Given the description of an element on the screen output the (x, y) to click on. 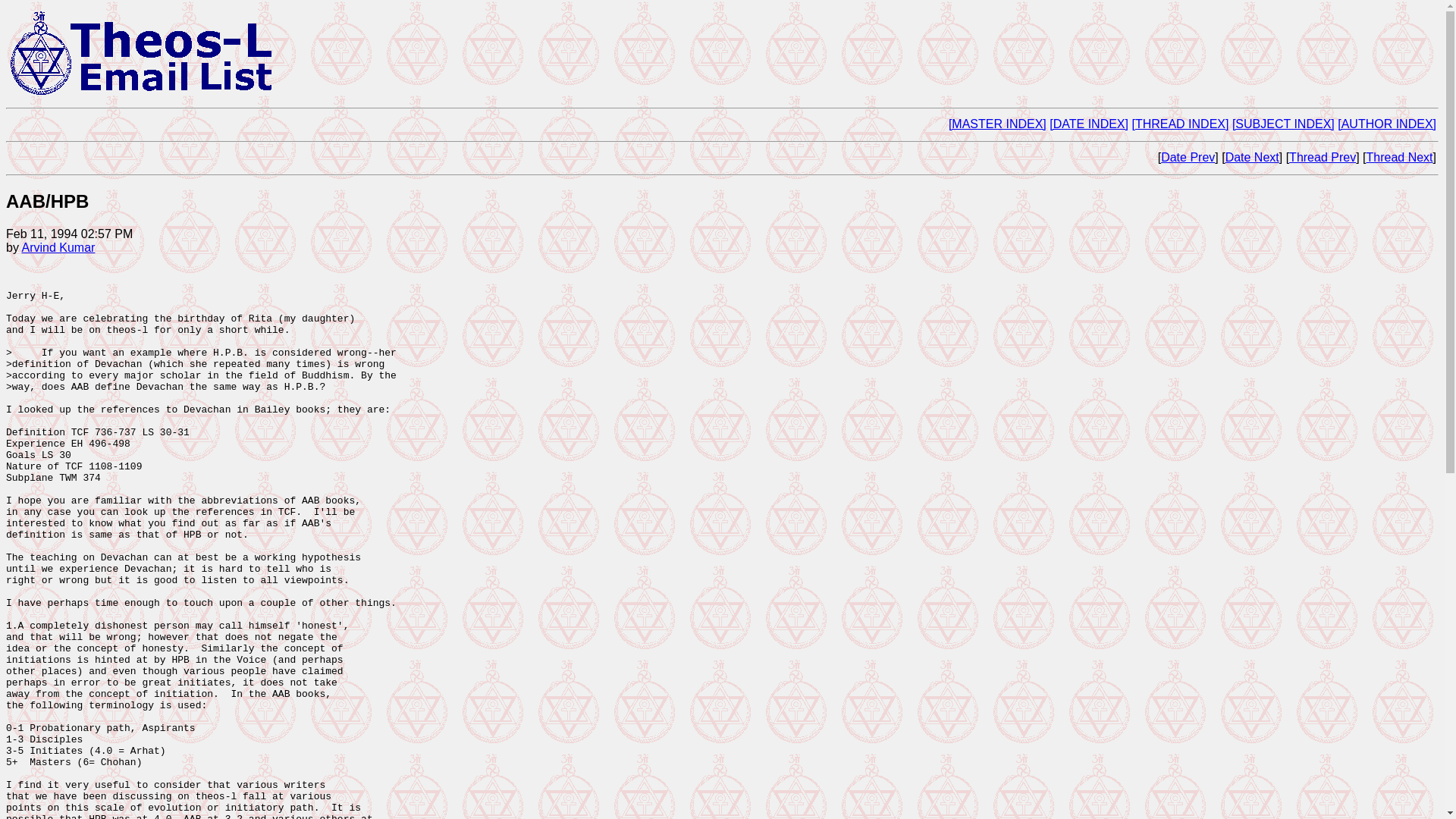
Date Next (1252, 156)
Date Prev (1187, 156)
Thread Prev (1321, 156)
Thread Next (1399, 156)
Arvind Kumar (57, 246)
